Given the description of an element on the screen output the (x, y) to click on. 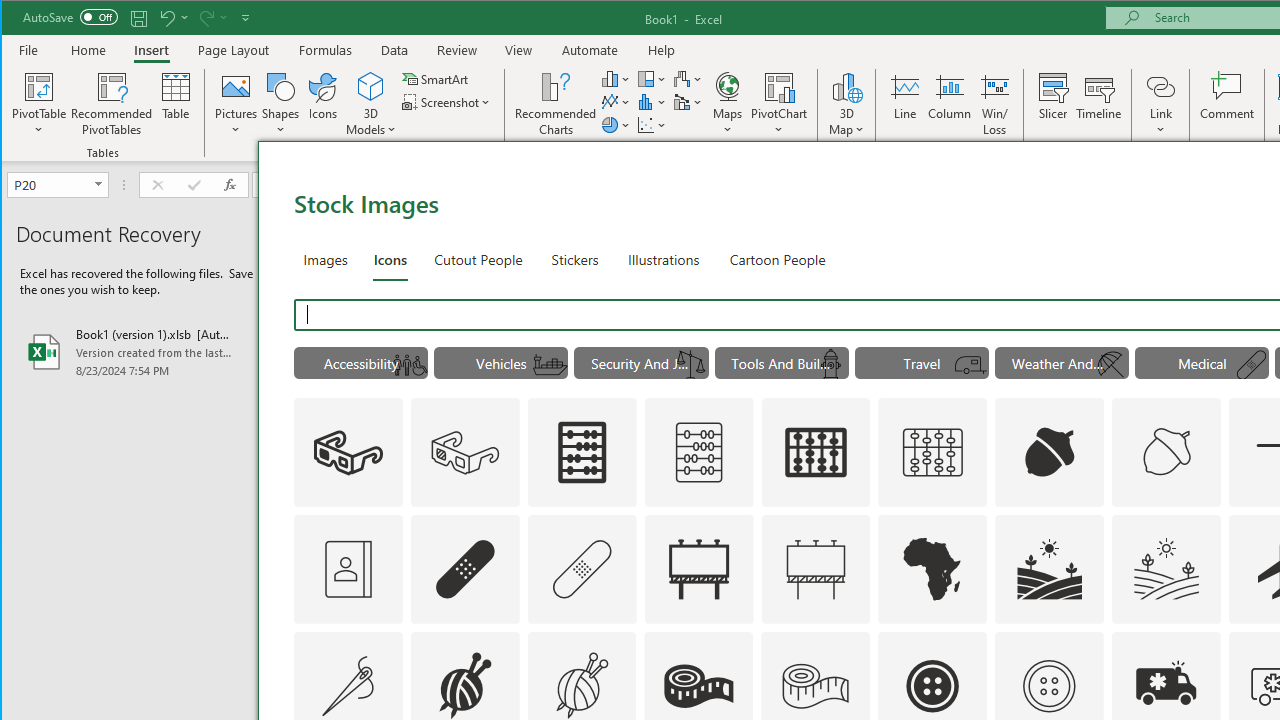
PivotTable (39, 86)
Insert Line or Area Chart (616, 101)
AutomationID: Icons_Acorn (1049, 452)
AutomationID: Icons_WeightsUneven1_M (691, 365)
AutomationID: Icons_Abacus_M (698, 452)
AutomationID: Icons_AdhesiveBandage (464, 568)
AutomationID: Icons_UniversalAccess_M (409, 365)
"Vehicles" Icons. (500, 362)
